Given the description of an element on the screen output the (x, y) to click on. 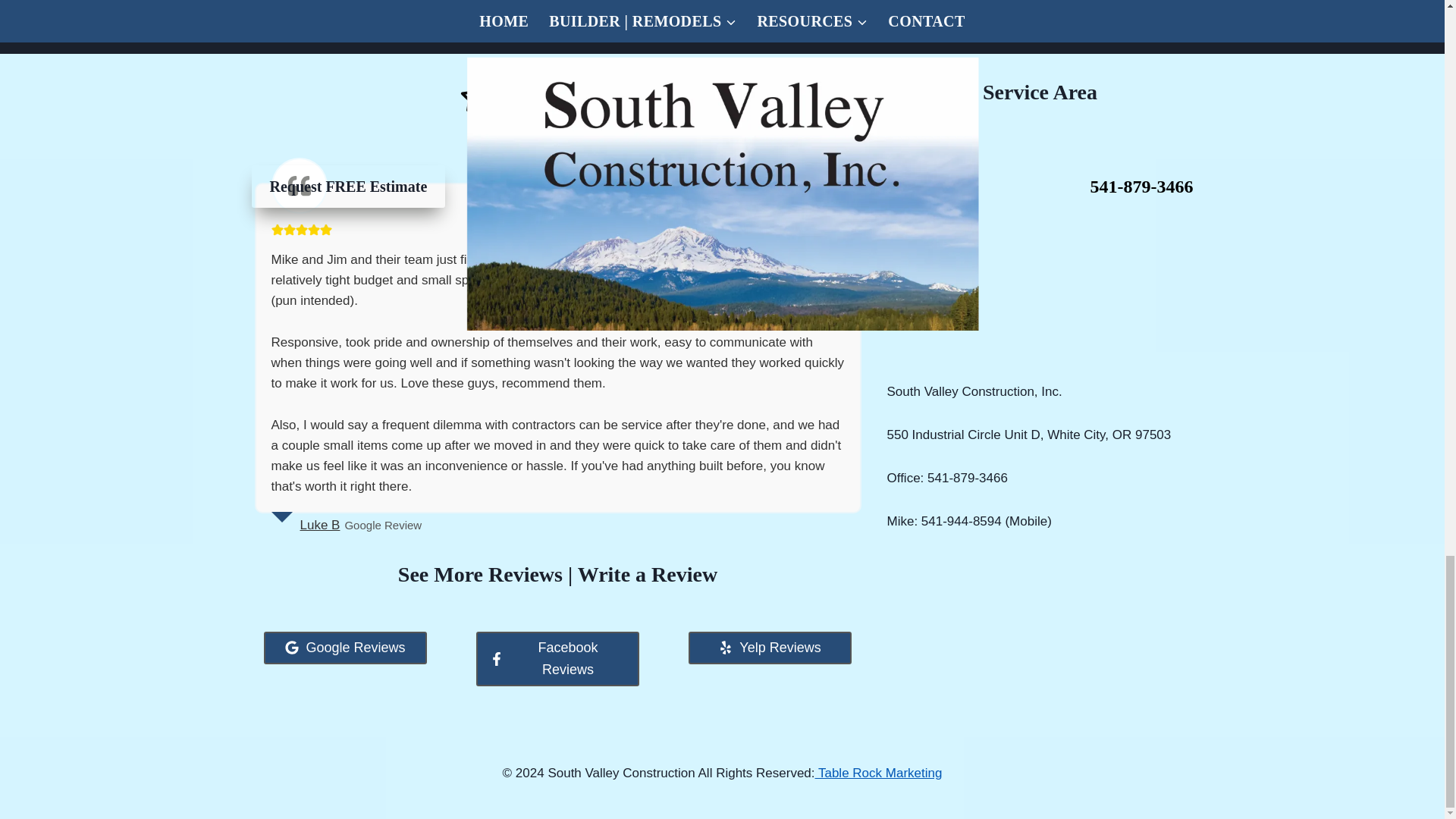
Facebook Reviews (557, 658)
Luke B (319, 524)
Table Rock Marketing (878, 771)
Google Reviews (344, 647)
Yelp Reviews (769, 647)
